Given the description of an element on the screen output the (x, y) to click on. 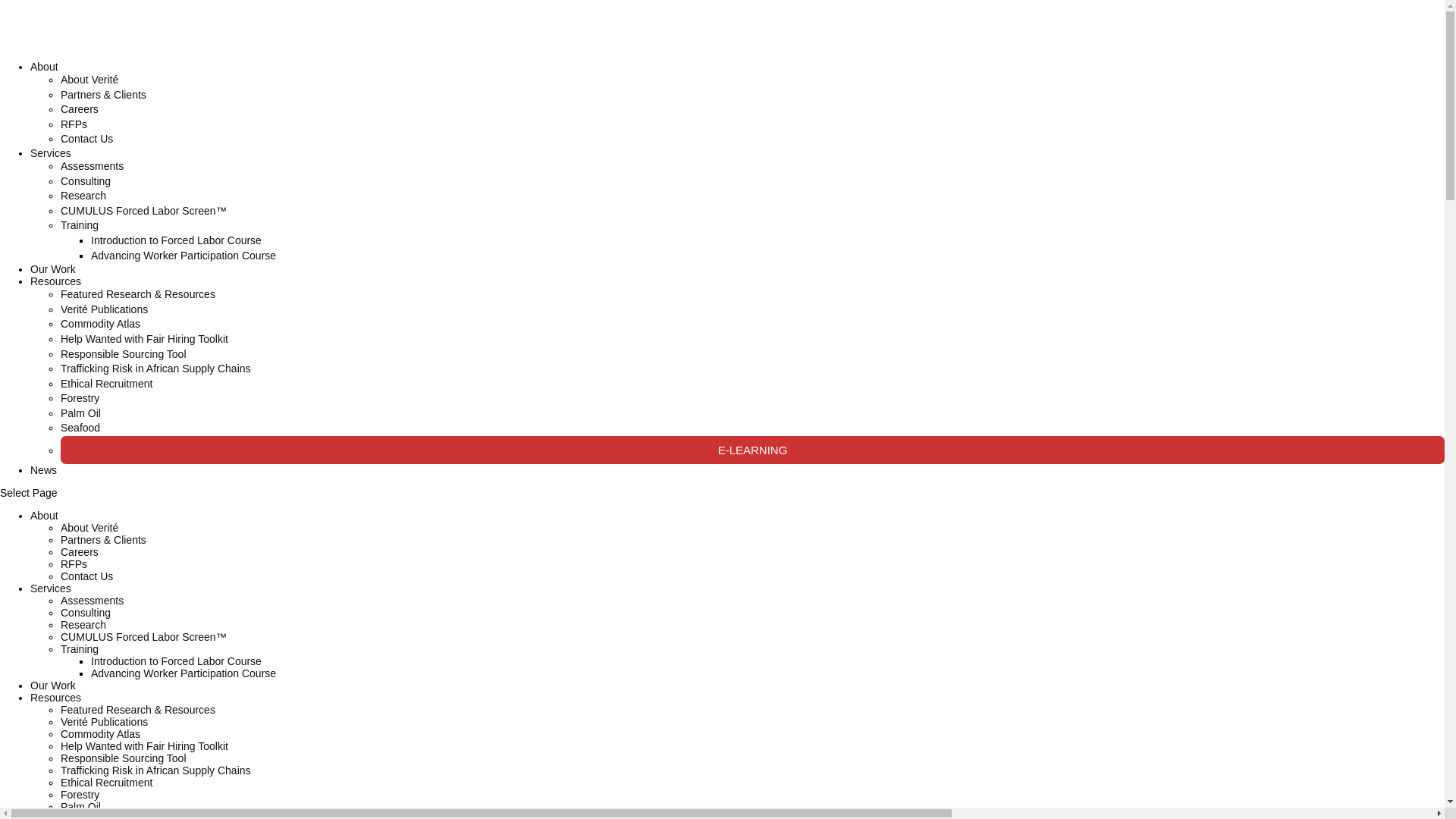
Our Work (52, 268)
News (43, 469)
Introduction to Forced Labor Course (176, 240)
Forestry (80, 397)
Training (80, 224)
Services (50, 588)
Consulting (85, 180)
Assessments (92, 165)
Research (83, 624)
About (44, 515)
Commodity Atlas (100, 323)
Contact Us (87, 576)
RFPs (74, 563)
Ethical Recruitment (106, 383)
Consulting (85, 612)
